Given the description of an element on the screen output the (x, y) to click on. 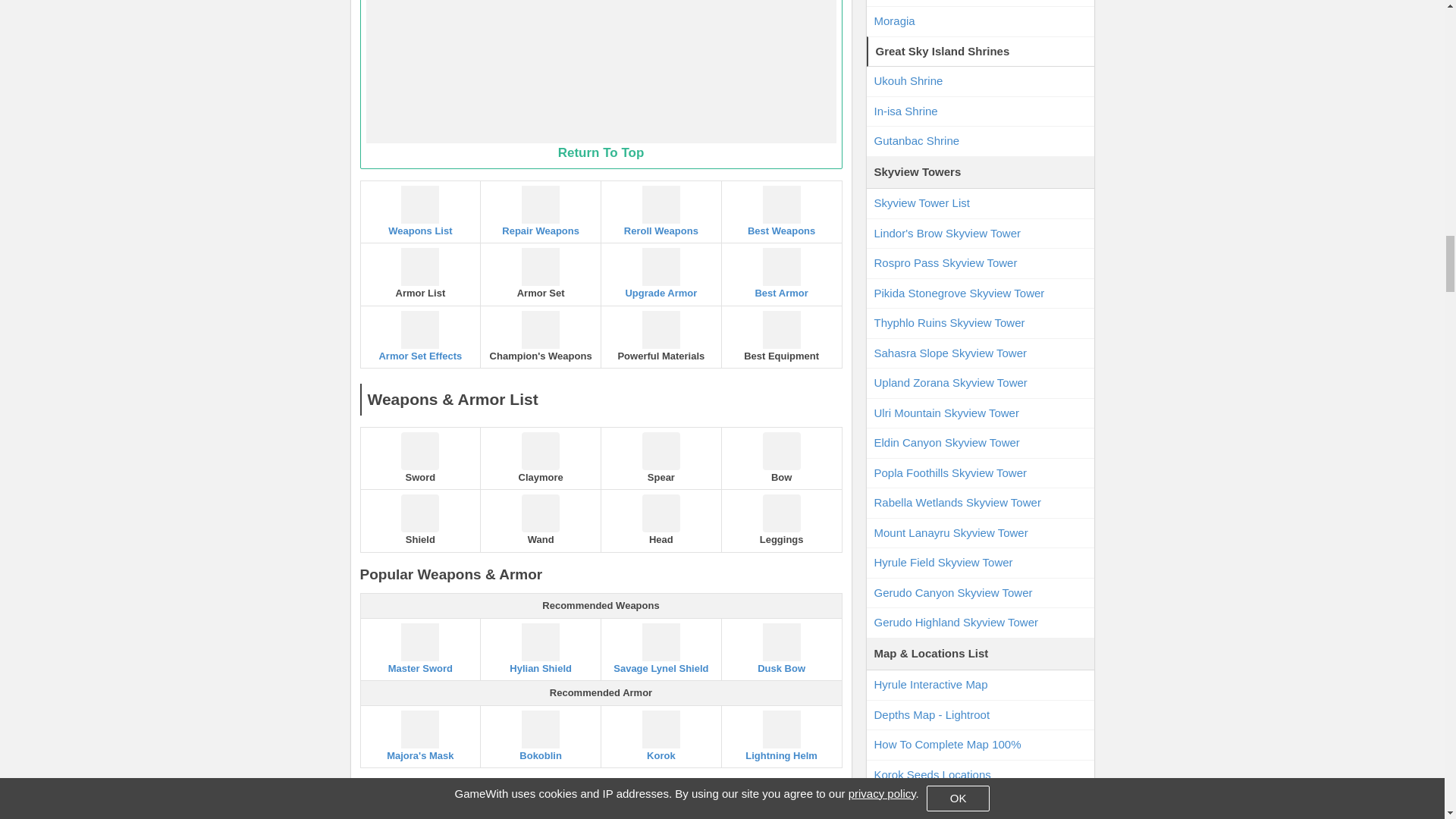
Upgrade Armor (660, 273)
Hylian Shield (540, 648)
Reroll Weapons (660, 210)
Best Armor (781, 273)
Repair Weapons (540, 210)
Armor Set Effects (420, 336)
Return To Top (600, 84)
Best Weapons (781, 210)
Master Sword (420, 648)
Weapons List (420, 210)
